Given the description of an element on the screen output the (x, y) to click on. 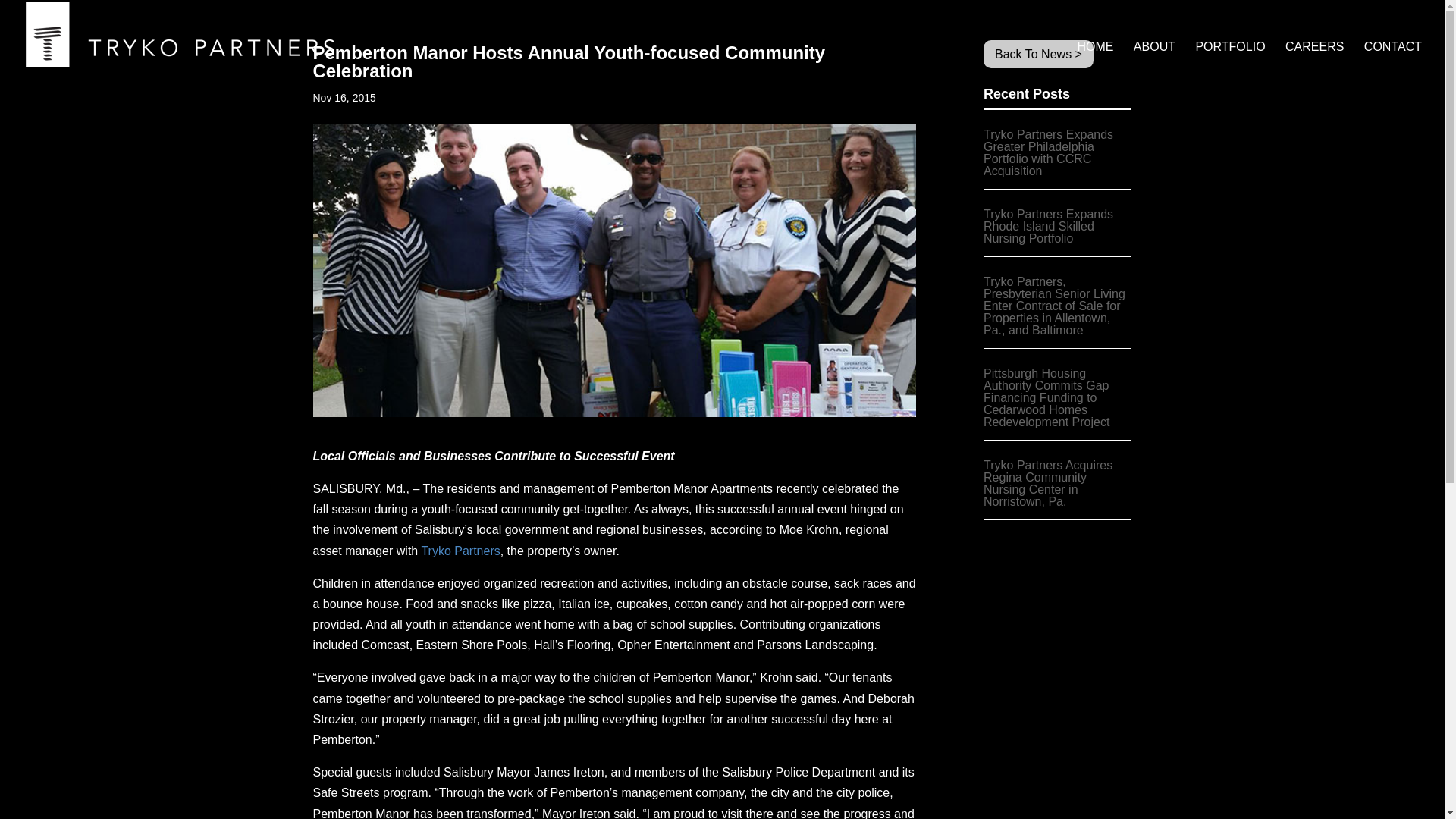
ABOUT (1154, 50)
PORTFOLIO (1230, 50)
CAREERS (1314, 50)
HOME (1095, 50)
CONTACT (1393, 50)
Tryko Partners (459, 550)
